Given the description of an element on the screen output the (x, y) to click on. 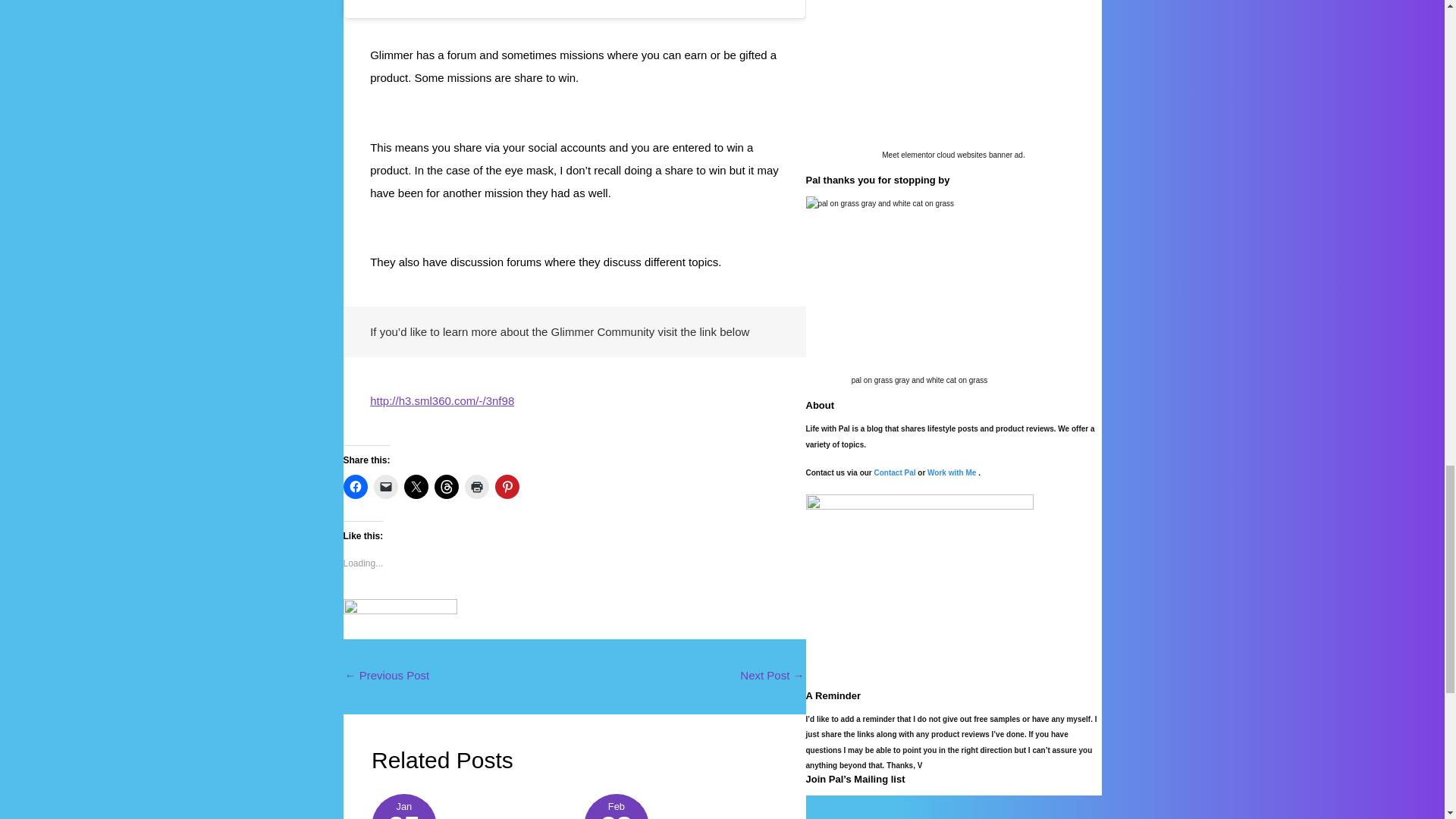
6 Truths About Having Crush (771, 676)
Click to share on Threads (445, 486)
Click to email a link to a friend (384, 486)
Click to print (475, 486)
Click to share on Facebook (354, 486)
Click to share on Pinterest (506, 486)
Click to share on X (415, 486)
